Given the description of an element on the screen output the (x, y) to click on. 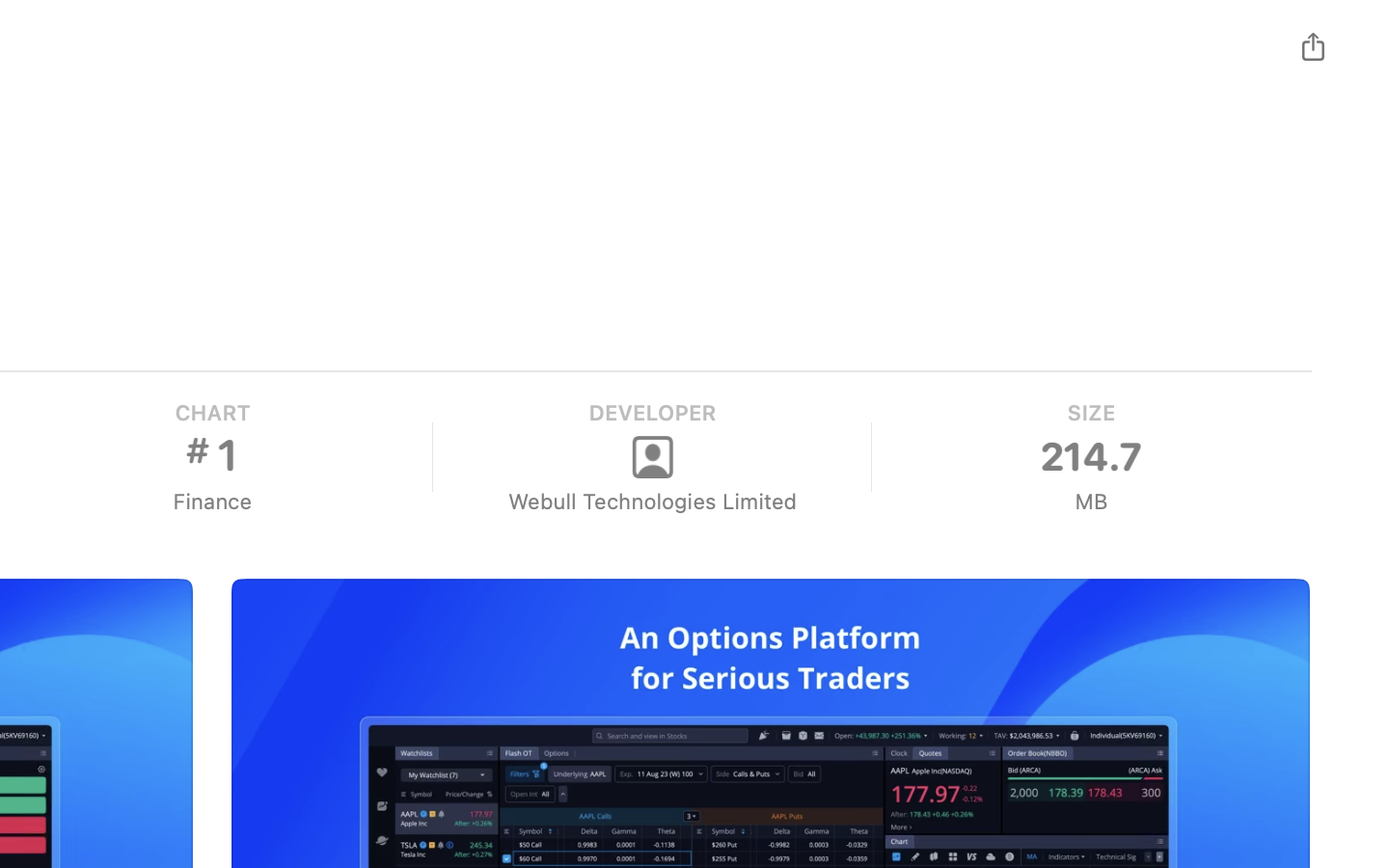
MB Element type: AXStaticText (1090, 501)
CHART Element type: AXStaticText (210, 412)
